Given the description of an element on the screen output the (x, y) to click on. 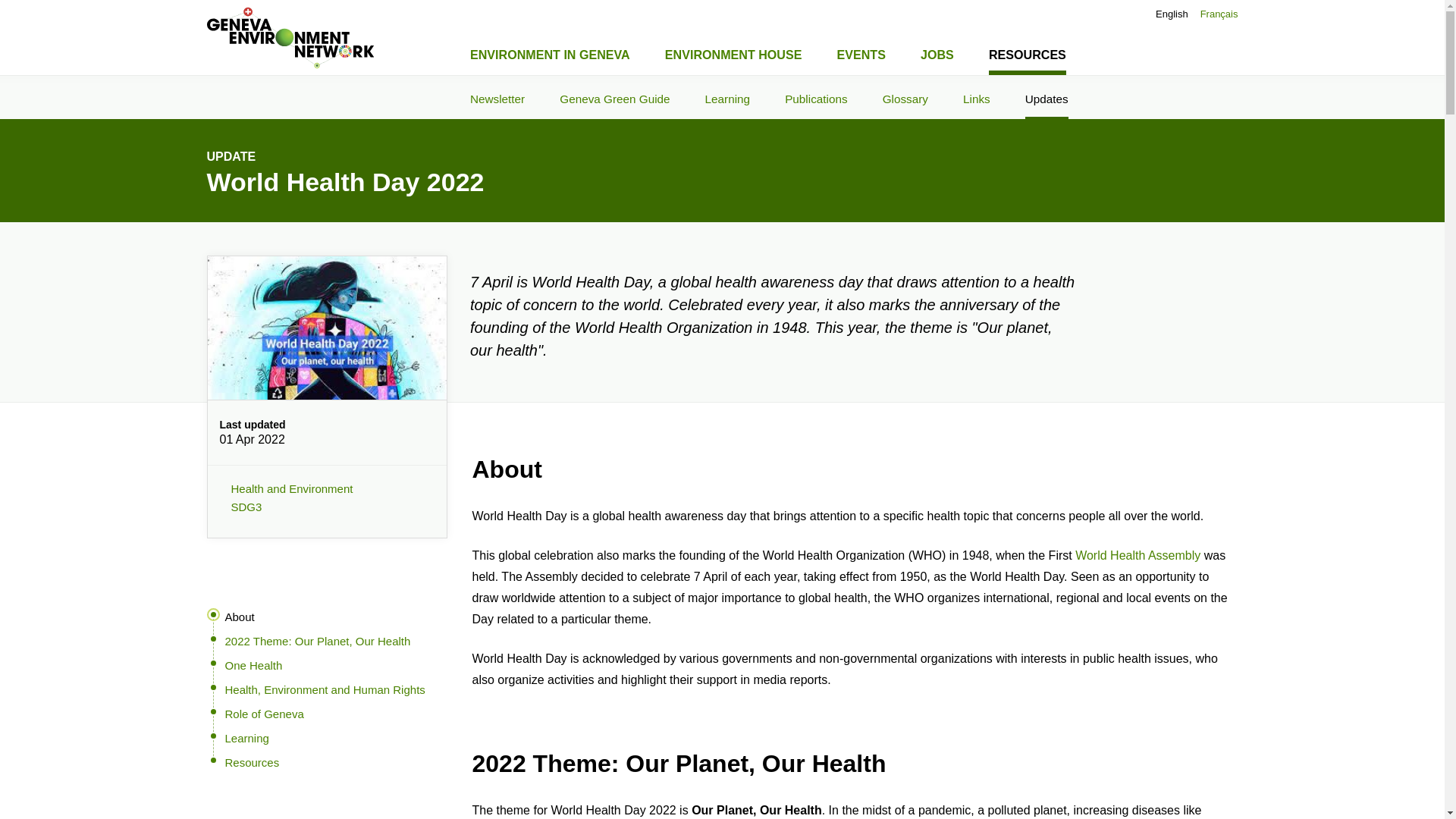
Glossary (905, 97)
Geneva Green Guide (614, 97)
Health, Environment and Human Rights (324, 689)
Resources (323, 767)
About (238, 616)
Health, Environment and Human Rights (324, 689)
One Health (253, 665)
Updates (1046, 97)
ENVIRONMENT IN GENEVA (550, 52)
